Given the description of an element on the screen output the (x, y) to click on. 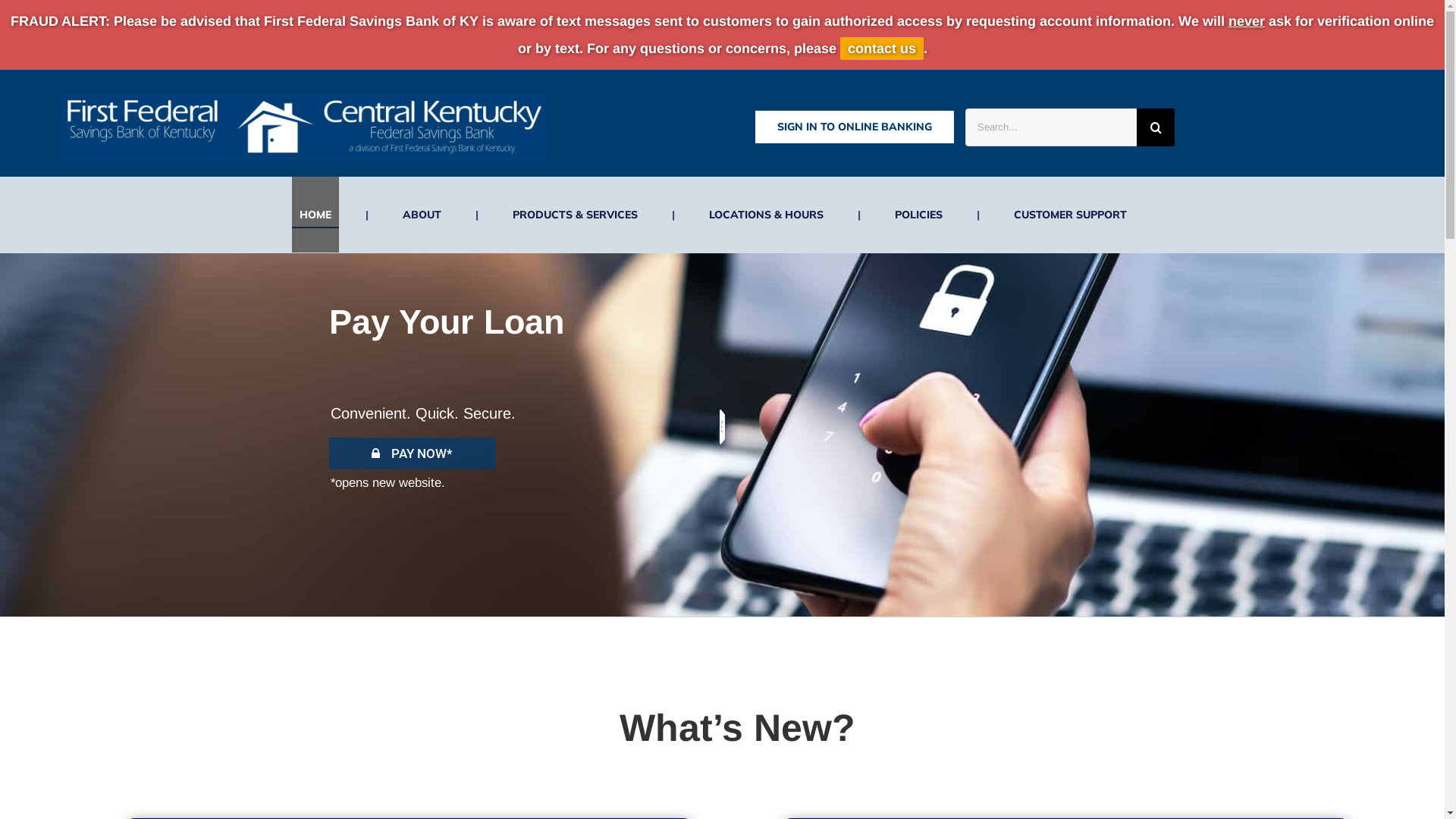
CUSTOMER SUPPORT Element type: text (1069, 214)
HOME Element type: text (314, 214)
ABOUT Element type: text (421, 214)
PRODUCTS & SERVICES Element type: text (575, 214)
| Element type: text (476, 214)
POLICIES Element type: text (918, 214)
| Element type: text (978, 214)
| Element type: text (673, 214)
contact us Element type: text (881, 48)
PAY NOW* Element type: text (421, 453)
| Element type: text (366, 214)
| Element type: text (858, 214)
SIGN IN TO ONLINE BANKING Element type: text (854, 126)
LOCATIONS & HOURS Element type: text (765, 214)
